Given the description of an element on the screen output the (x, y) to click on. 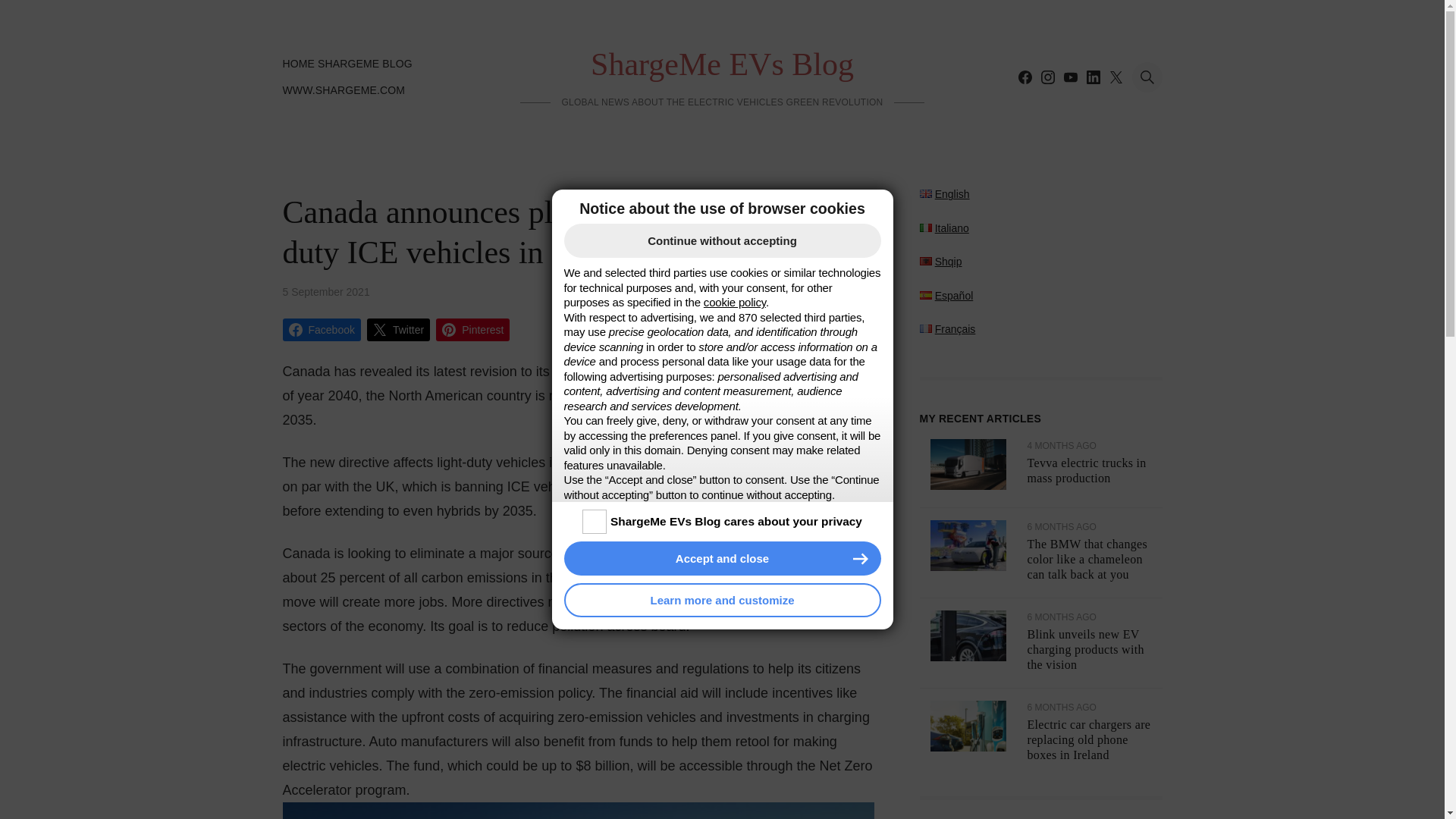
Instagram (1046, 76)
Twitter (1115, 76)
Tevva electric trucks in mass production (1085, 470)
Blink unveils new EV charging products with the vision (968, 657)
Youtube (1069, 76)
Blink unveils new EV charging products with the vision (1084, 649)
Twitter (397, 329)
HOME SHARGEME BLOG (347, 63)
